Given the description of an element on the screen output the (x, y) to click on. 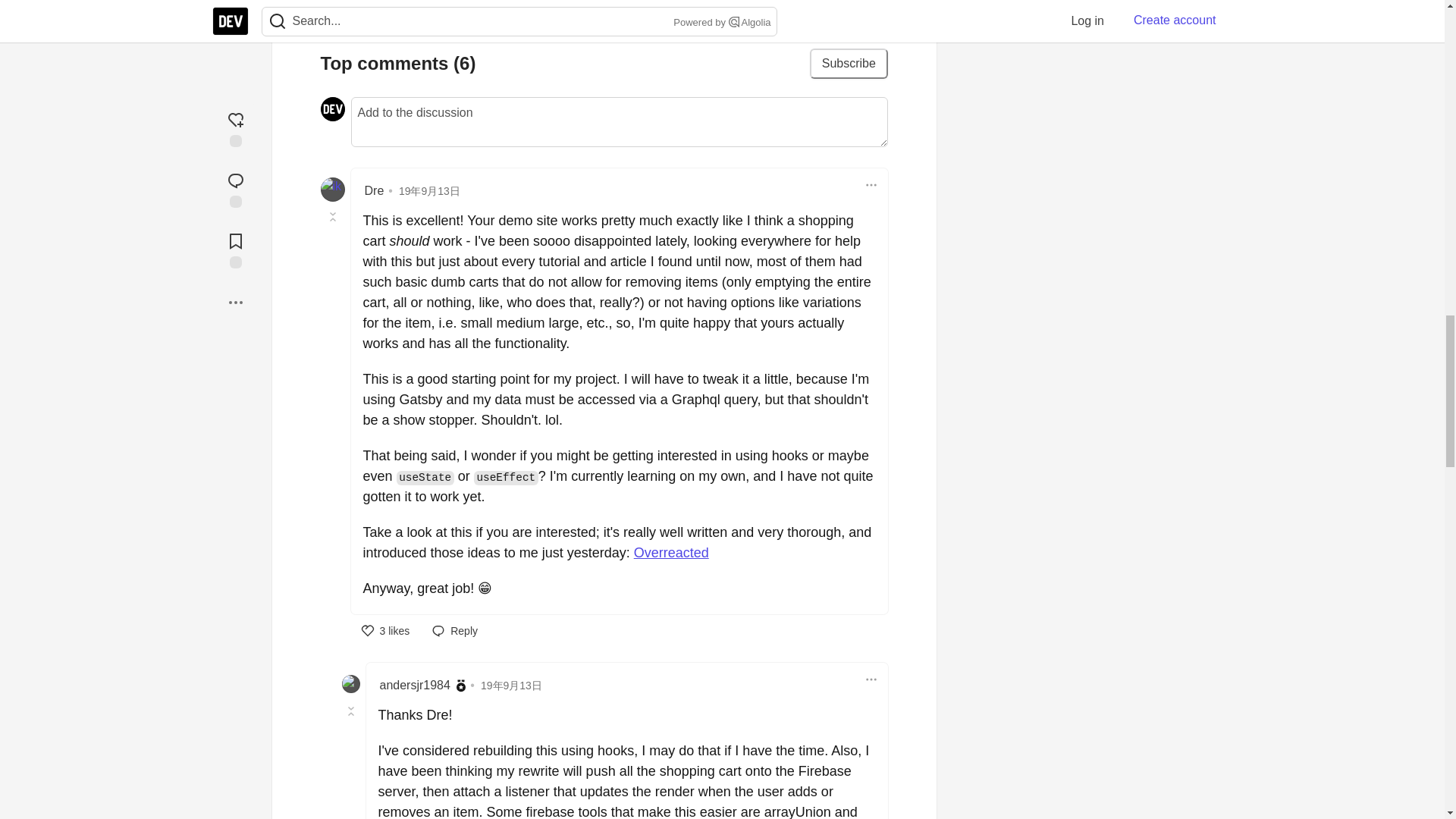
Dropdown menu (870, 185)
Dropdown menu (870, 679)
Subscribe (848, 63)
